Given the description of an element on the screen output the (x, y) to click on. 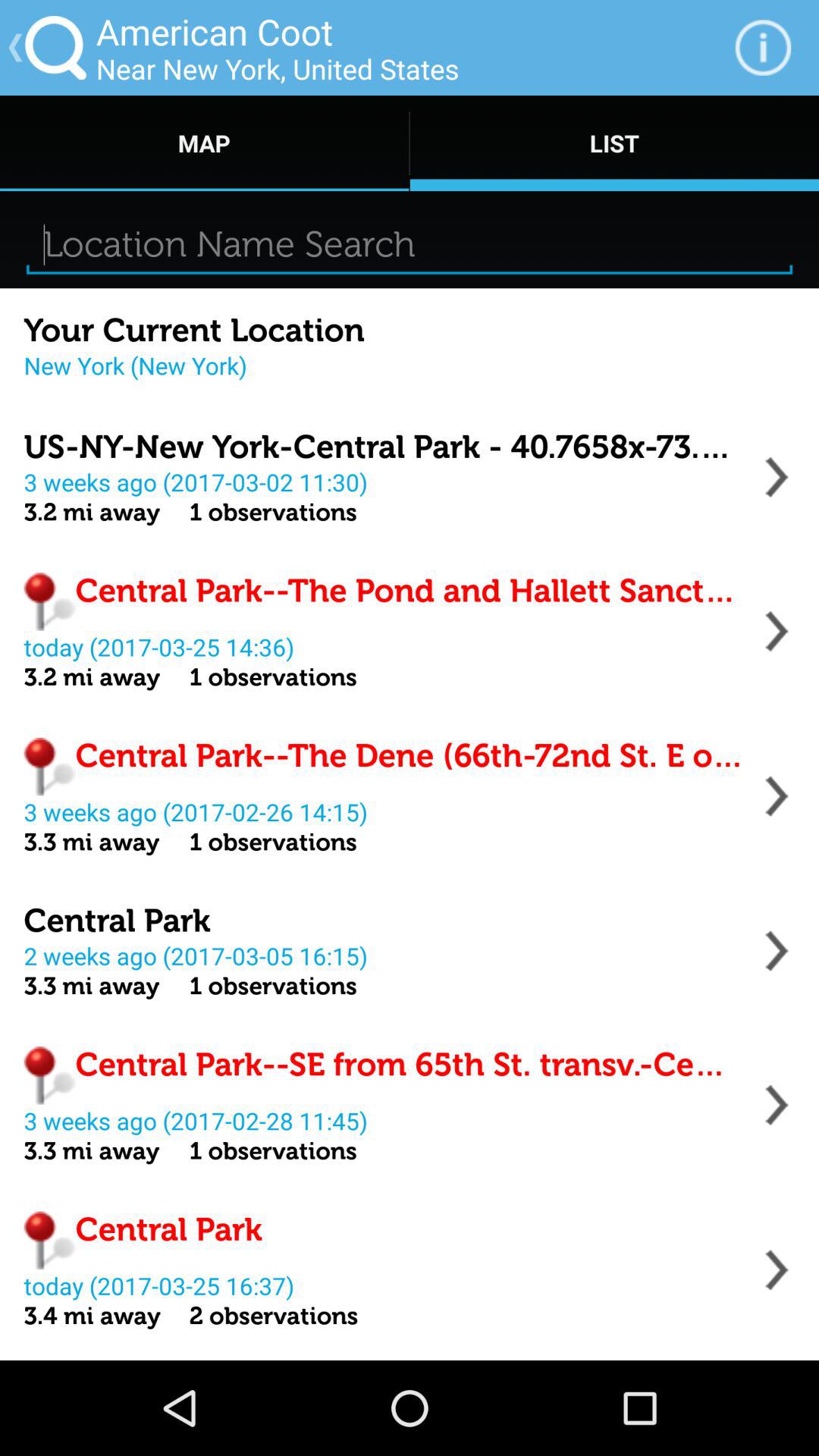
expand the line (776, 1104)
